Given the description of an element on the screen output the (x, y) to click on. 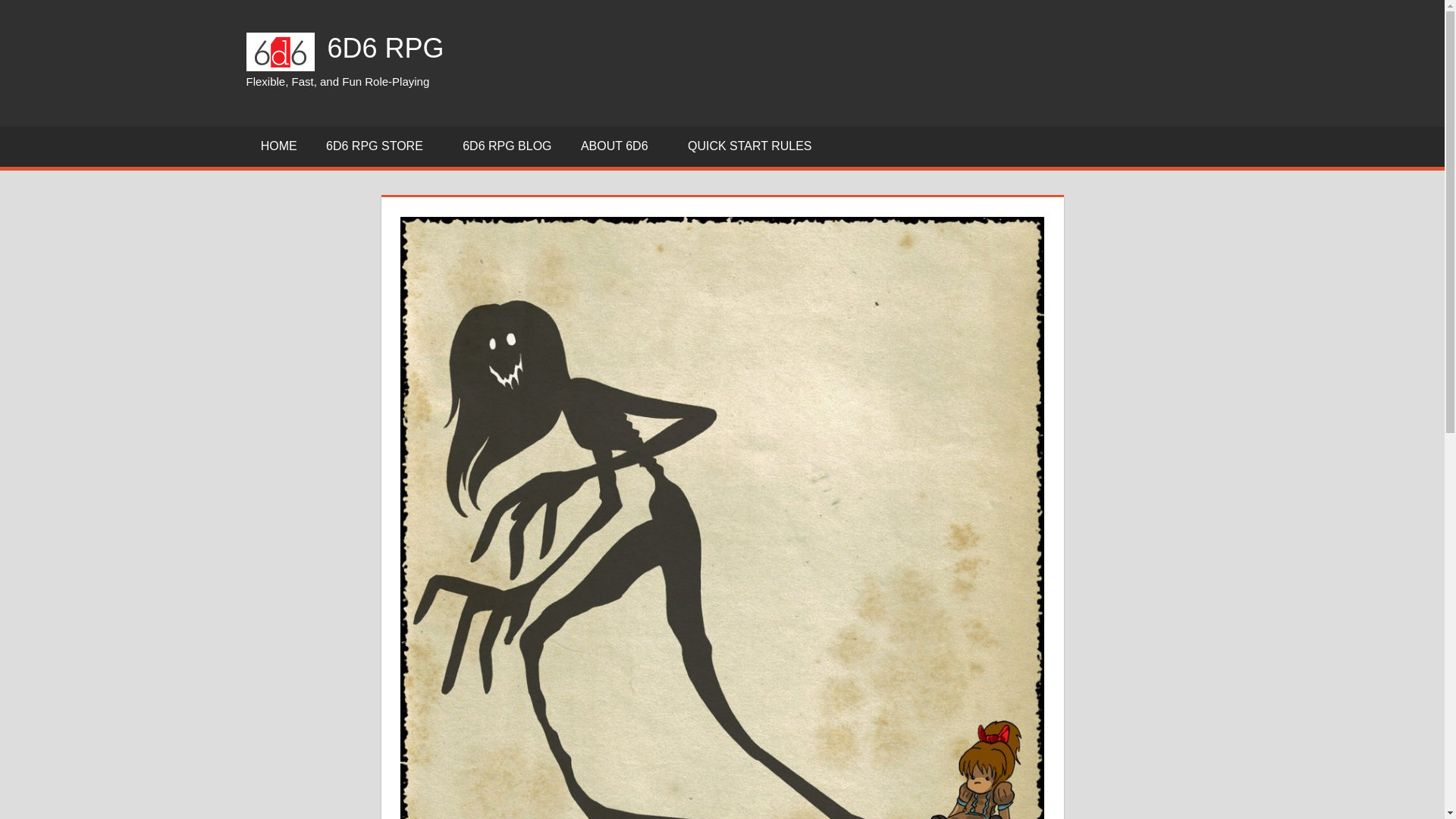
6D6 RPG (385, 47)
QUICK START RULES (754, 146)
6D6 RPG BLOG (507, 146)
HOME (278, 146)
6D6 RPG STORE (379, 146)
ABOUT 6D6 (619, 146)
